Given the description of an element on the screen output the (x, y) to click on. 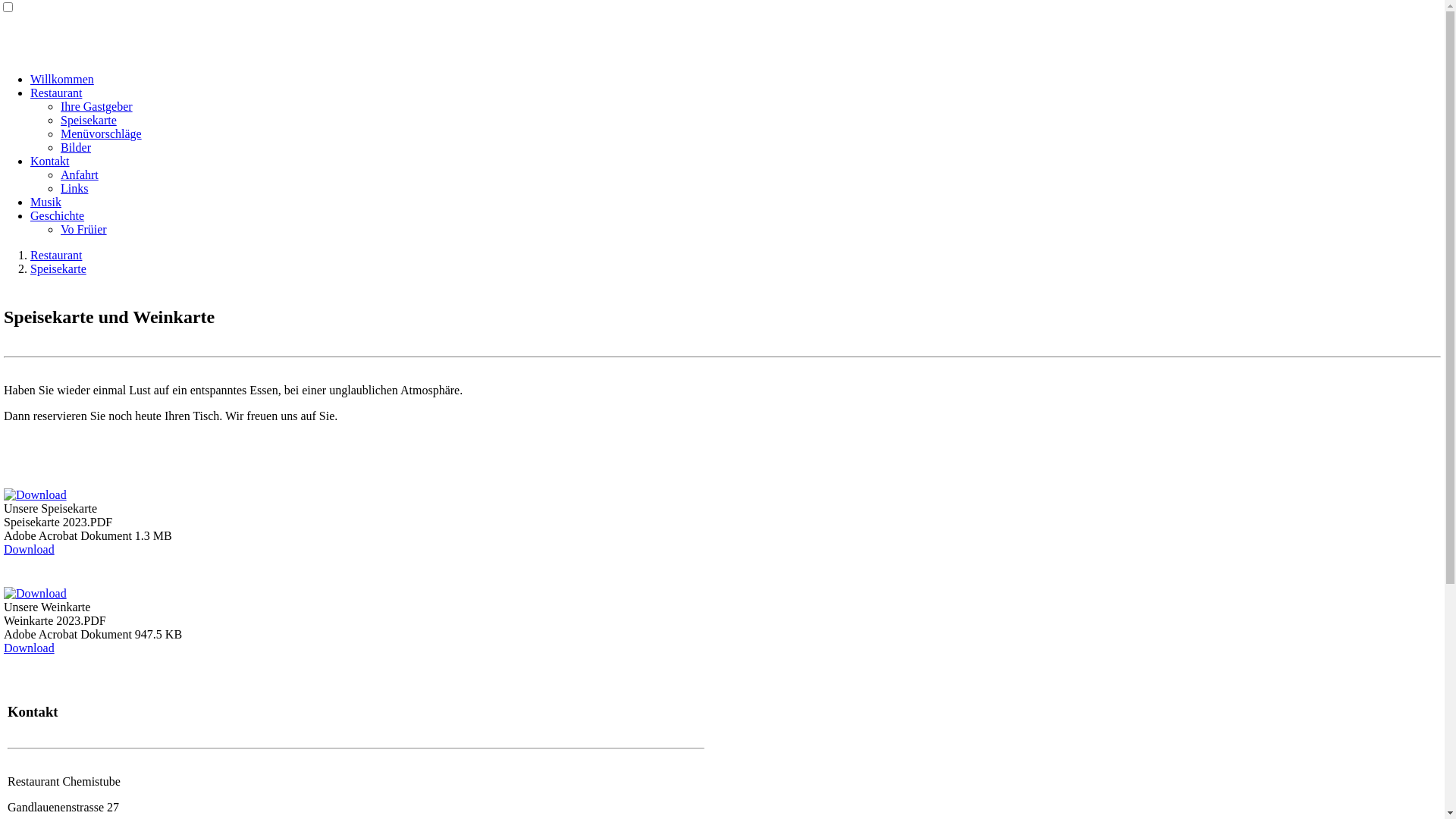
Links Element type: text (73, 188)
Musik Element type: text (45, 201)
Speisekarte Element type: text (58, 268)
Geschichte Element type: text (57, 215)
Restaurant Element type: text (55, 254)
Restaurant Element type: text (55, 92)
Kontakt Element type: text (49, 160)
Anfahrt Element type: text (79, 174)
Speisekarte Element type: text (88, 119)
Ihre Gastgeber Element type: text (96, 106)
Willkommen Element type: text (62, 78)
Download Element type: text (28, 548)
Download Element type: text (28, 647)
Bilder Element type: text (75, 147)
